Given the description of an element on the screen output the (x, y) to click on. 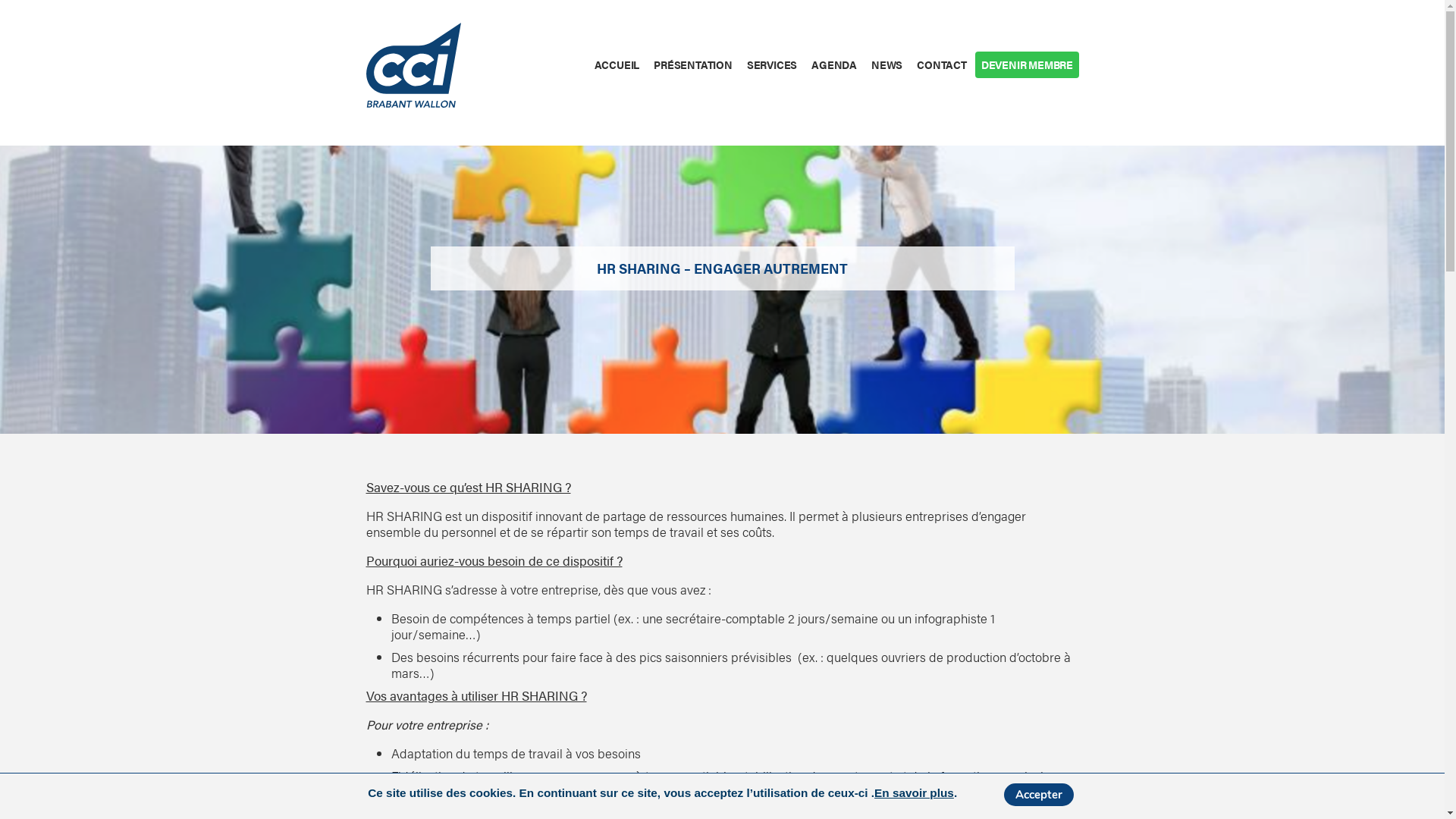
AGENDA Element type: text (834, 64)
CONTACT Element type: text (941, 64)
SERVICES Element type: text (771, 64)
ACCUEIL Element type: text (616, 64)
Accepter Element type: text (1038, 794)
DEVENIR MEMBRE Element type: text (1026, 64)
NEWS Element type: text (886, 64)
